Given the description of an element on the screen output the (x, y) to click on. 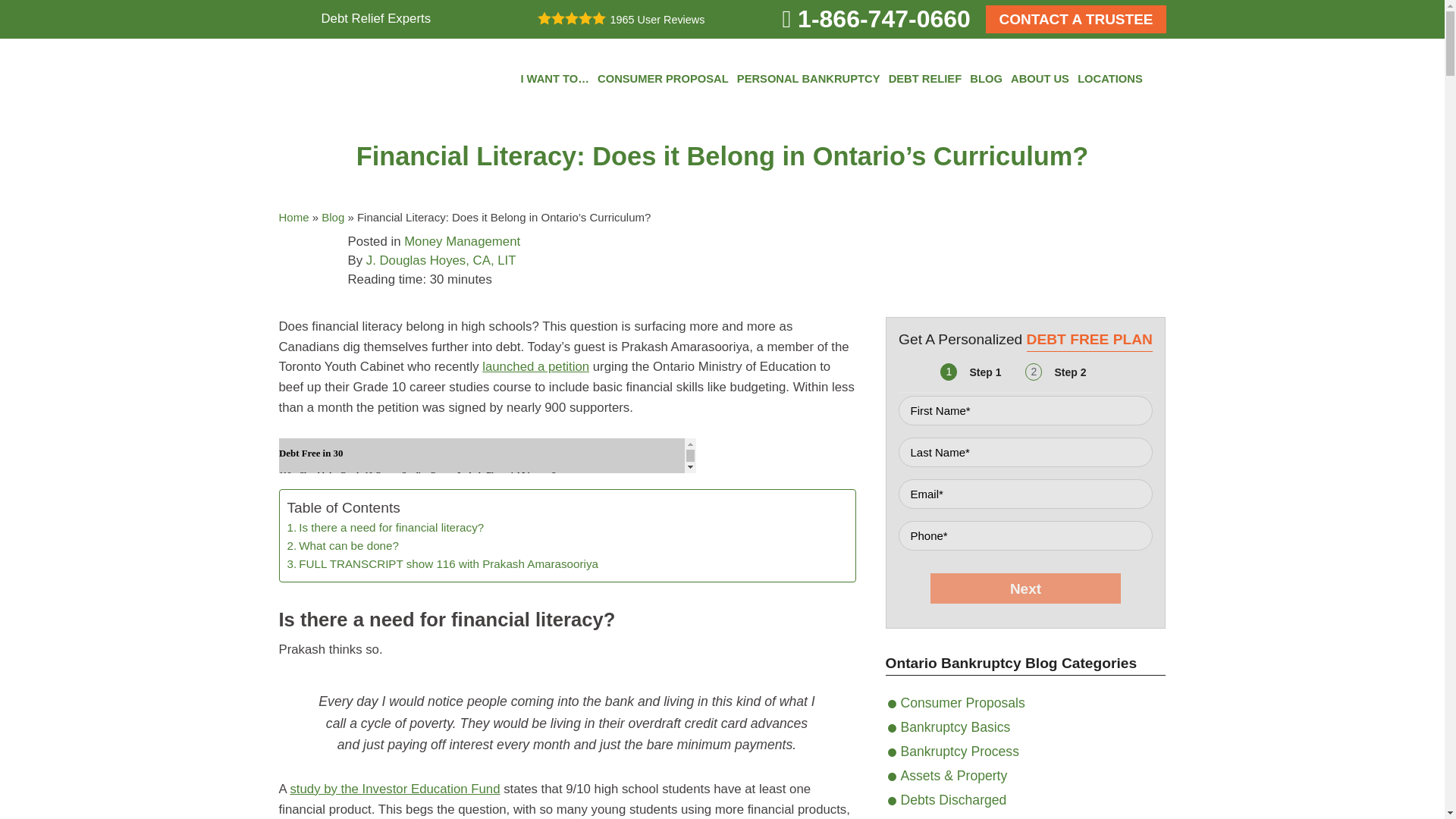
CONTACT A TRUSTEE (1075, 18)
study by the Investor Education Fund (394, 789)
FULL TRANSCRIPT show 116 with Prakash Amarasooriya (441, 564)
LOCATIONS (1109, 78)
FULL TRANSCRIPT show 116 with Prakash Amarasooriya (441, 564)
PERSONAL BANKRUPTCY (808, 78)
Posts by J. Douglas Hoyes, CA, LIT (441, 260)
Is there a need for financial literacy? (384, 527)
ABOUT US (1039, 78)
Next (1025, 588)
J. Douglas Hoyes, CA, LIT (441, 260)
Blog (332, 216)
Money Management (461, 241)
BLOG (986, 78)
